Given the description of an element on the screen output the (x, y) to click on. 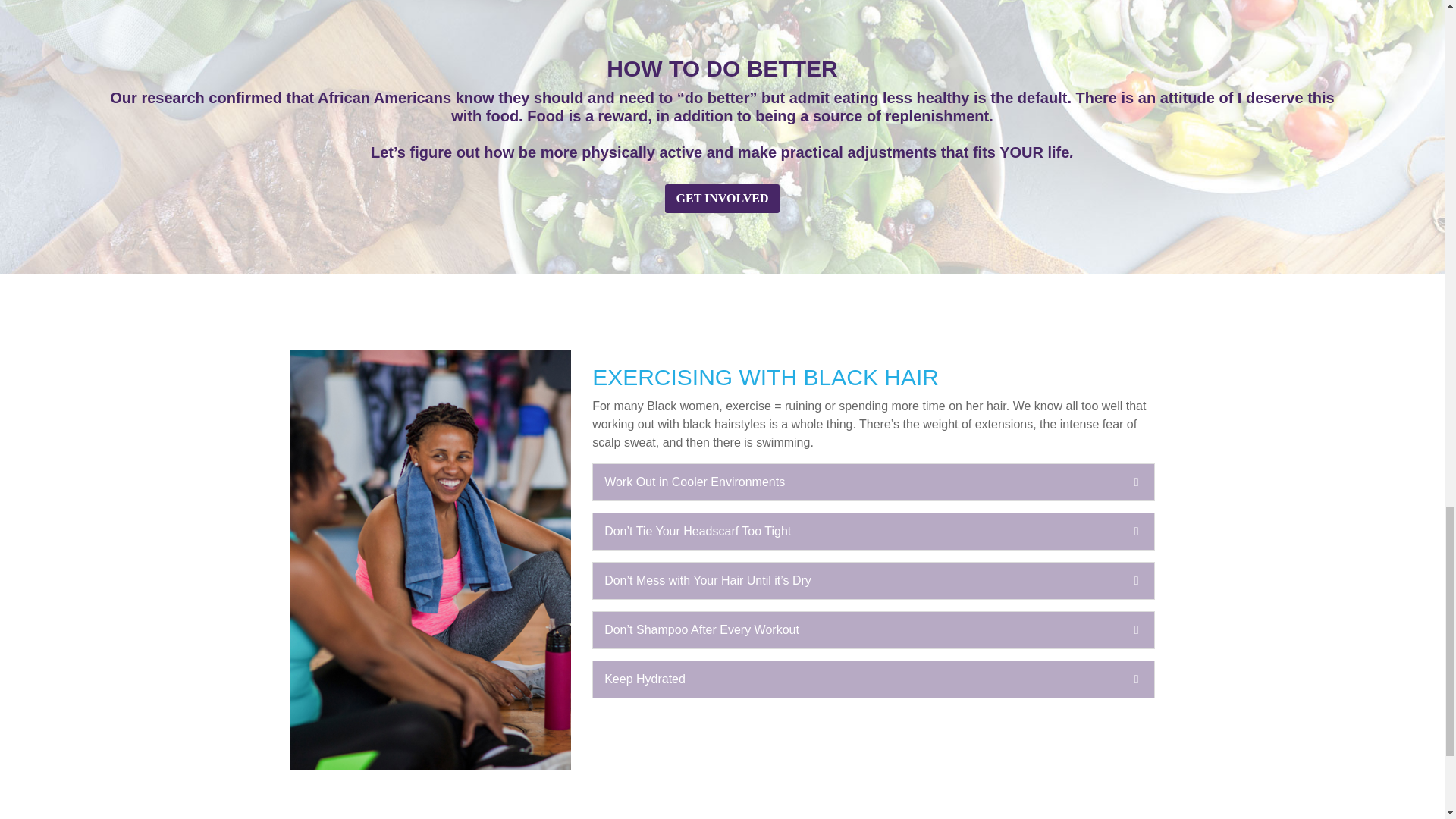
GET INVOLVED (722, 198)
